Given the description of an element on the screen output the (x, y) to click on. 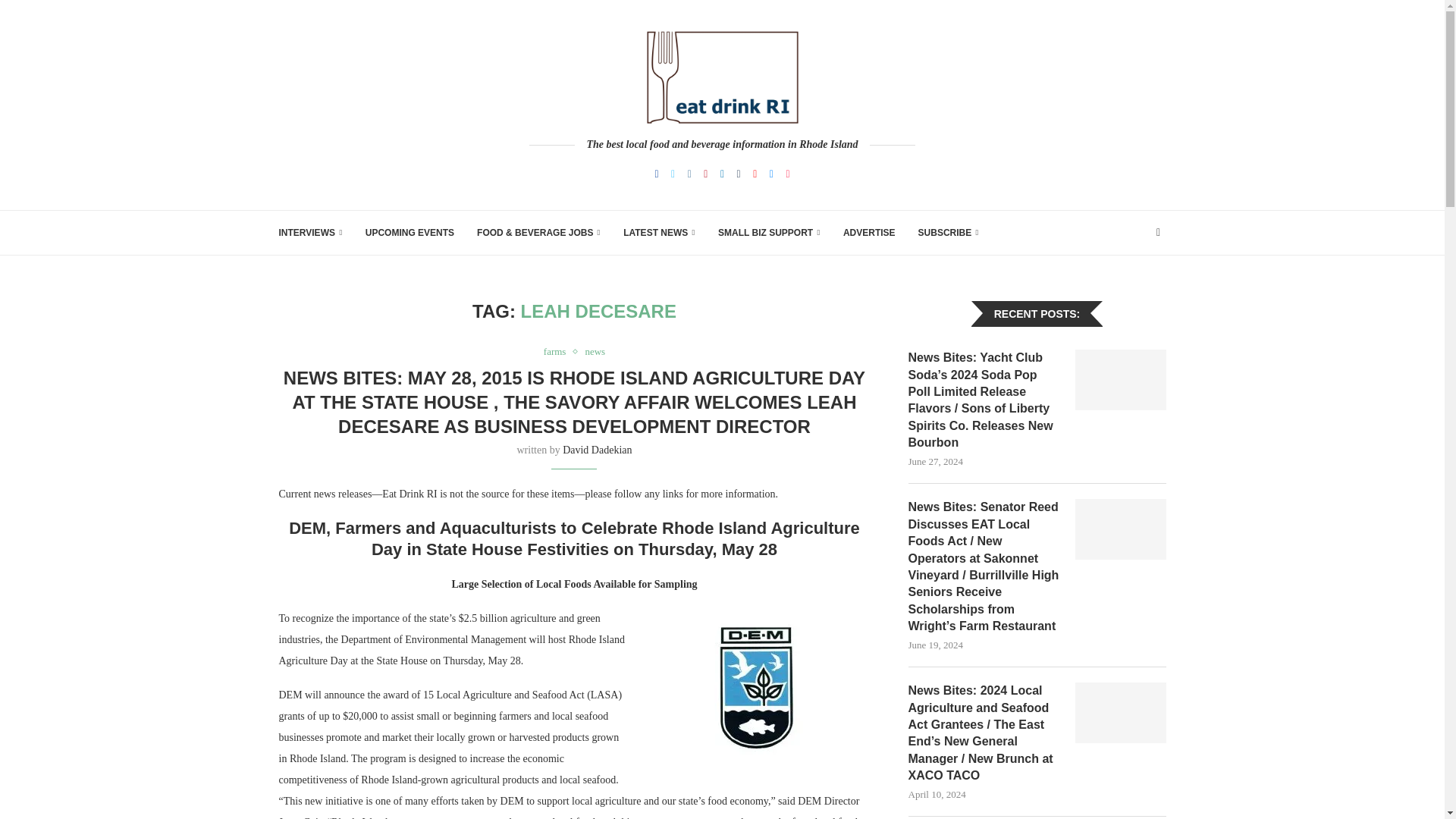
news (595, 351)
SUBSCRIBE (948, 232)
UPCOMING EVENTS (409, 232)
farms (558, 351)
INTERVIEWS (310, 232)
ADVERTISE (869, 232)
SMALL BIZ SUPPORT (769, 232)
LATEST NEWS (659, 232)
David Dadekian (596, 449)
